Given the description of an element on the screen output the (x, y) to click on. 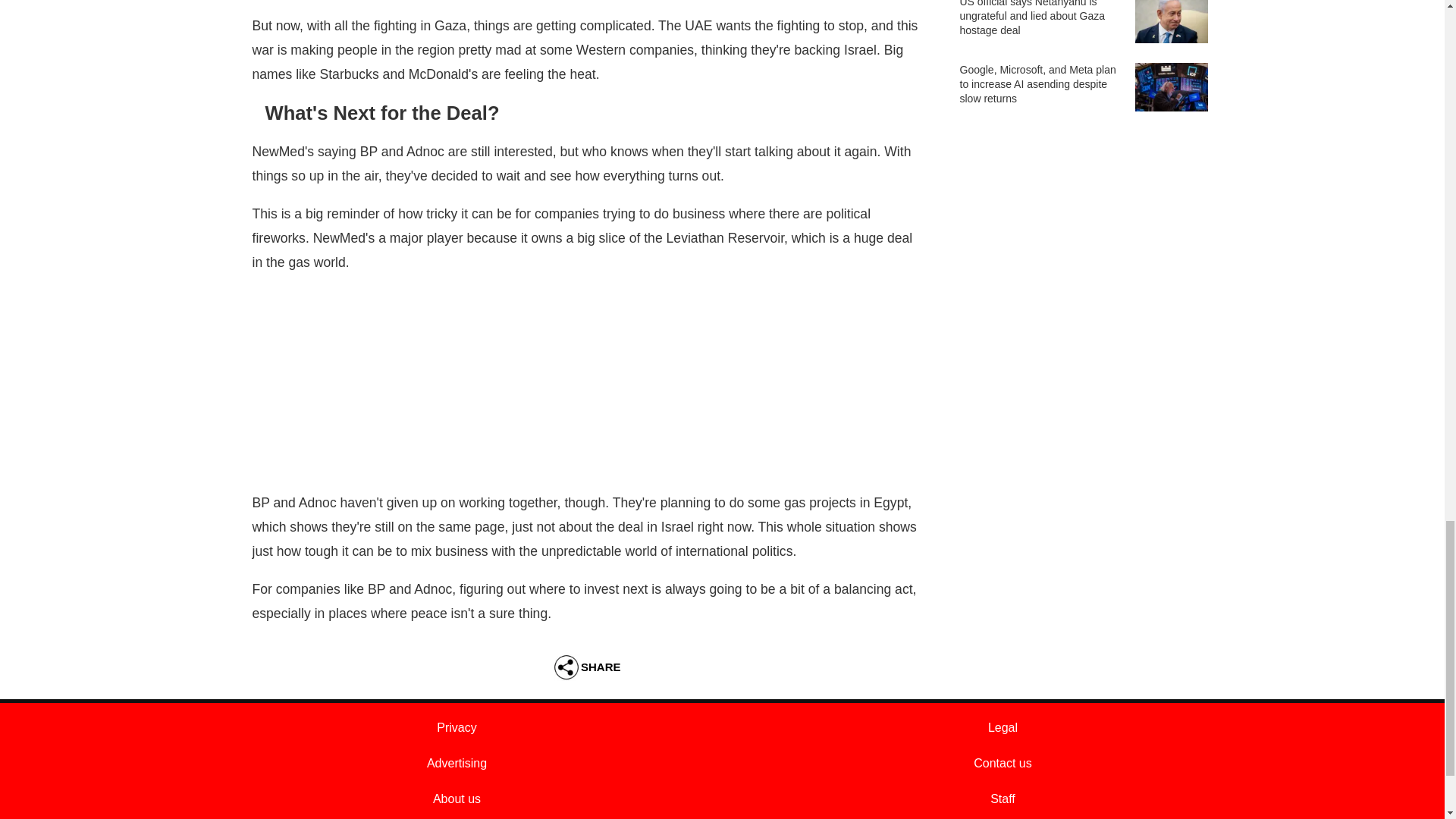
Advertising (456, 762)
Privacy (456, 727)
Legal (1002, 727)
